Given the description of an element on the screen output the (x, y) to click on. 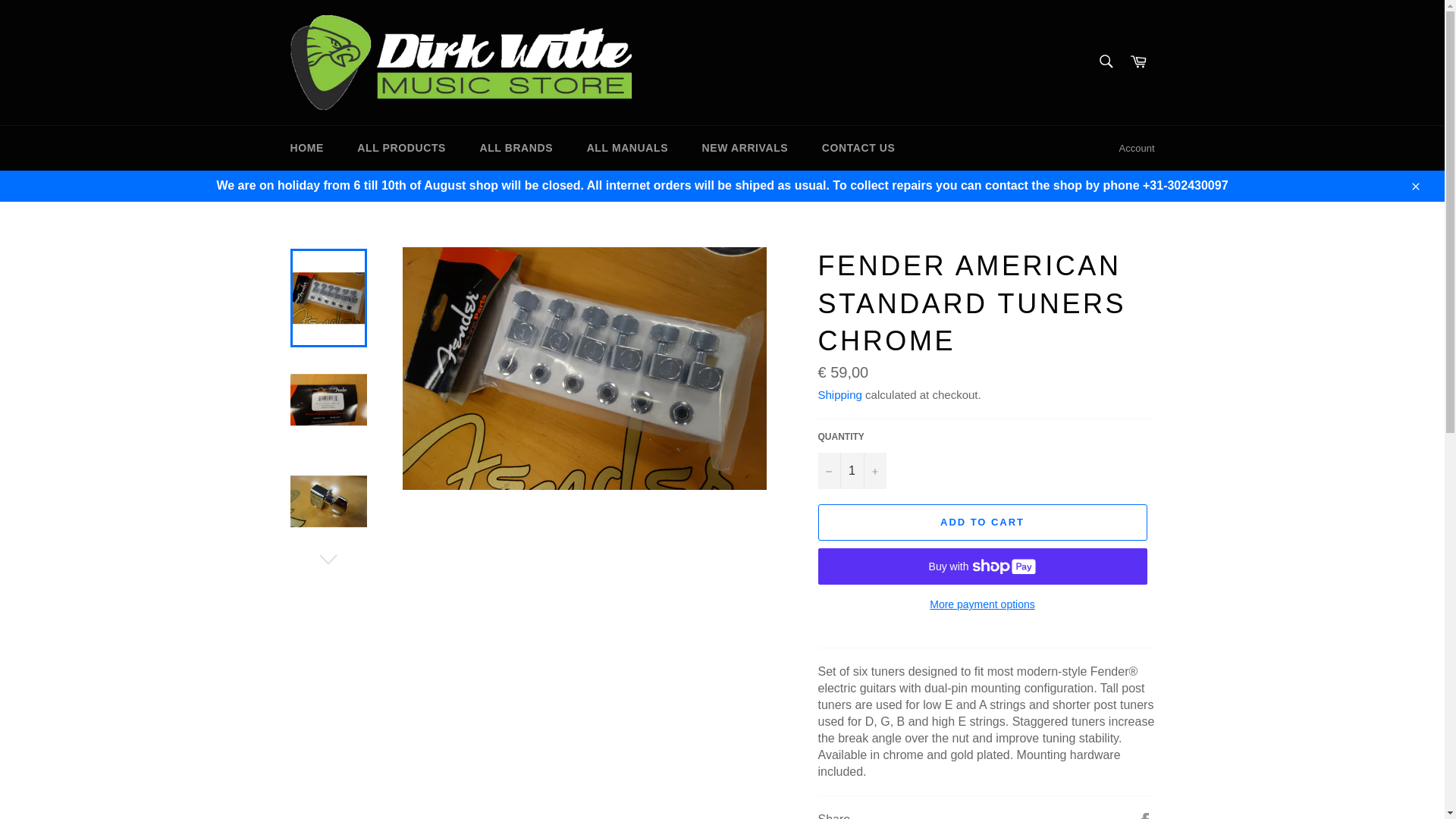
Close (1414, 185)
Cart (1138, 62)
CONTACT US (858, 148)
HOME (306, 148)
Account (1136, 148)
Shipping (838, 394)
ALL MANUALS (627, 148)
Share on Facebook (1144, 816)
NEW ARRIVALS (745, 148)
ALL PRODUCTS (401, 148)
Search (1104, 60)
ALL BRANDS (515, 148)
1 (850, 470)
